Given the description of an element on the screen output the (x, y) to click on. 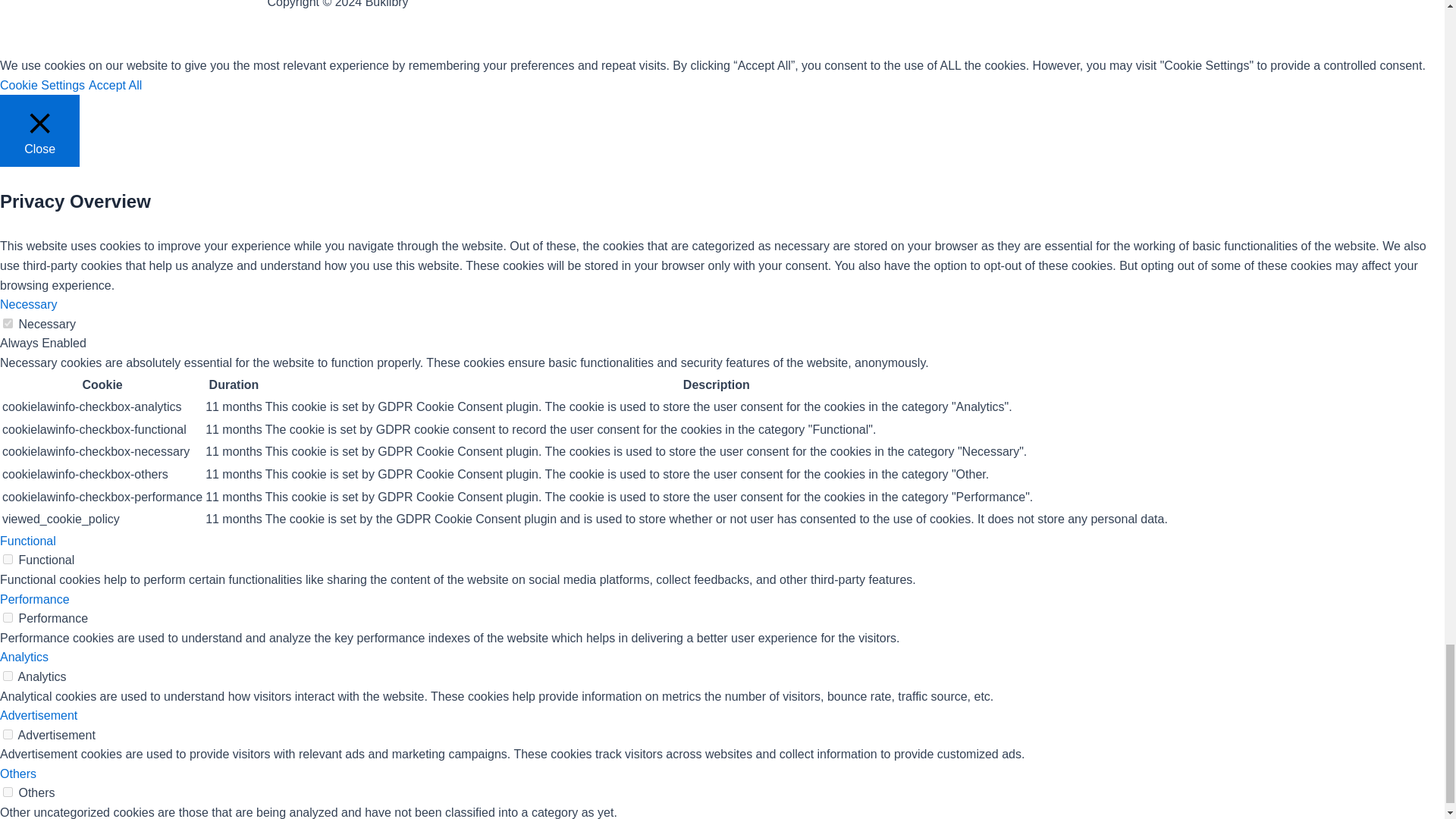
on (7, 675)
on (7, 617)
on (7, 791)
on (7, 734)
on (7, 323)
on (7, 559)
